Given the description of an element on the screen output the (x, y) to click on. 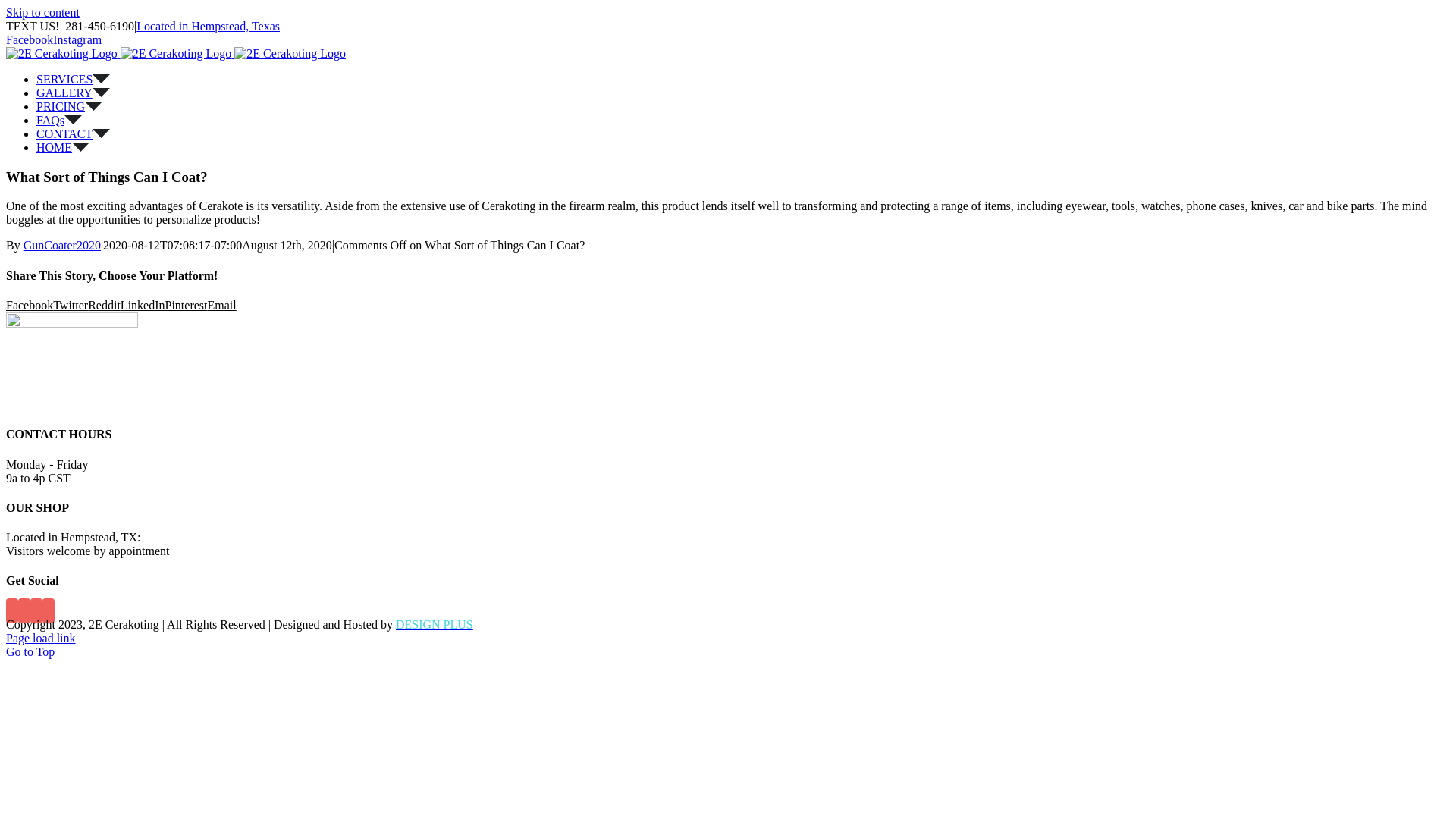
Instagram Element type: text (77, 39)
CONTACT Element type: text (72, 133)
Instagram Element type: hover (24, 610)
Page load link Element type: text (40, 637)
Facebook Element type: text (29, 39)
Phone Element type: hover (48, 610)
HOME Element type: text (62, 147)
Facebook Element type: hover (12, 610)
SERVICES Element type: text (72, 78)
GunCoater2020 Element type: text (61, 244)
LinkedIn Element type: text (142, 304)
DESIGN PLUS Element type: text (434, 624)
FAQs Element type: text (58, 119)
GALLERY Element type: text (72, 92)
Facebook Element type: text (29, 304)
Mail Element type: hover (36, 610)
Skip to content Element type: text (42, 12)
Go to Top Element type: text (30, 651)
Pinterest Element type: text (186, 304)
Email Element type: text (221, 304)
Reddit Element type: text (103, 304)
Located in Hempstead, Texas Element type: text (207, 25)
Twitter Element type: text (70, 304)
PRICING Element type: text (69, 106)
